Given the description of an element on the screen output the (x, y) to click on. 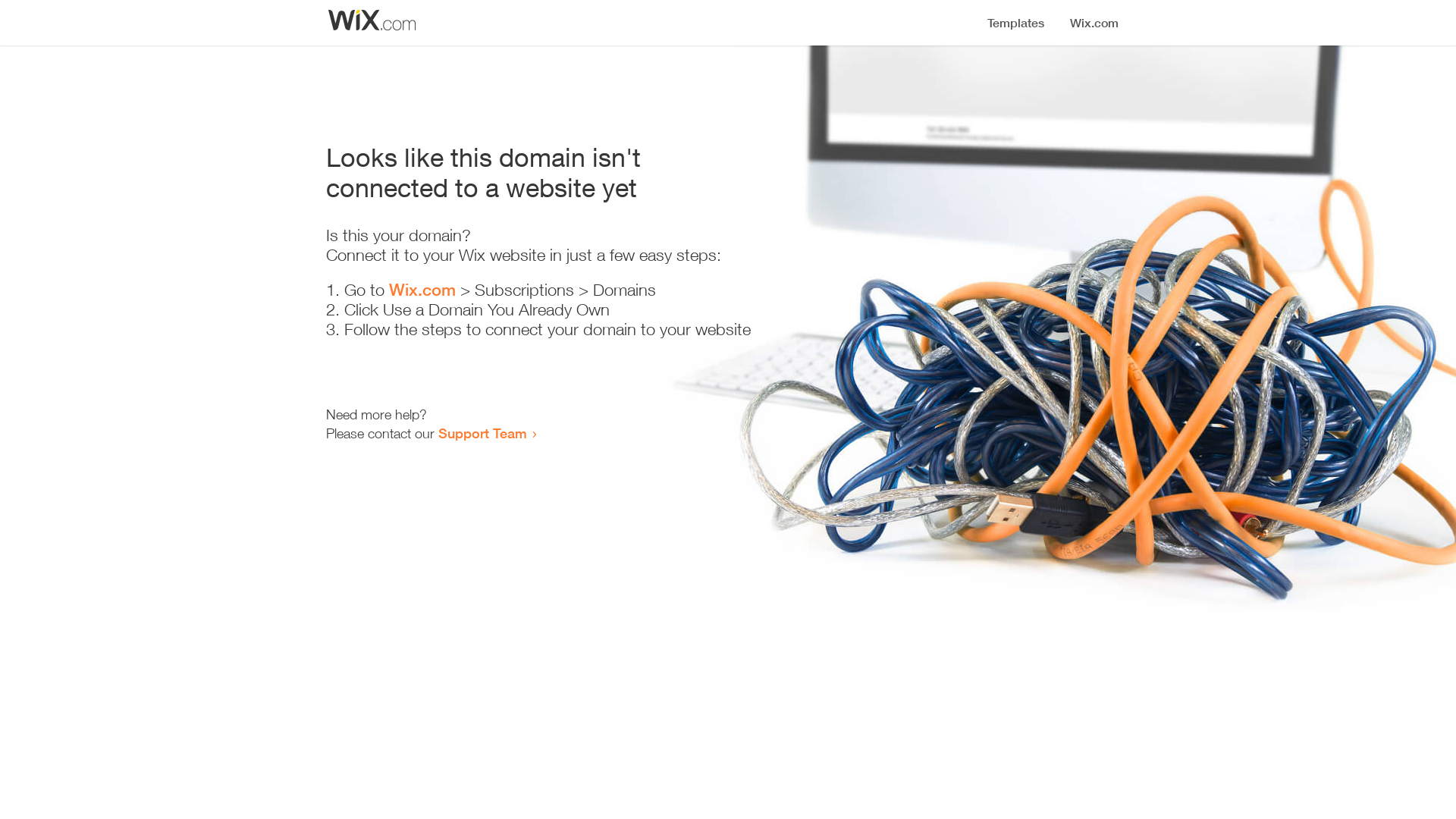
Wix.com Element type: text (422, 289)
Support Team Element type: text (482, 432)
